Given the description of an element on the screen output the (x, y) to click on. 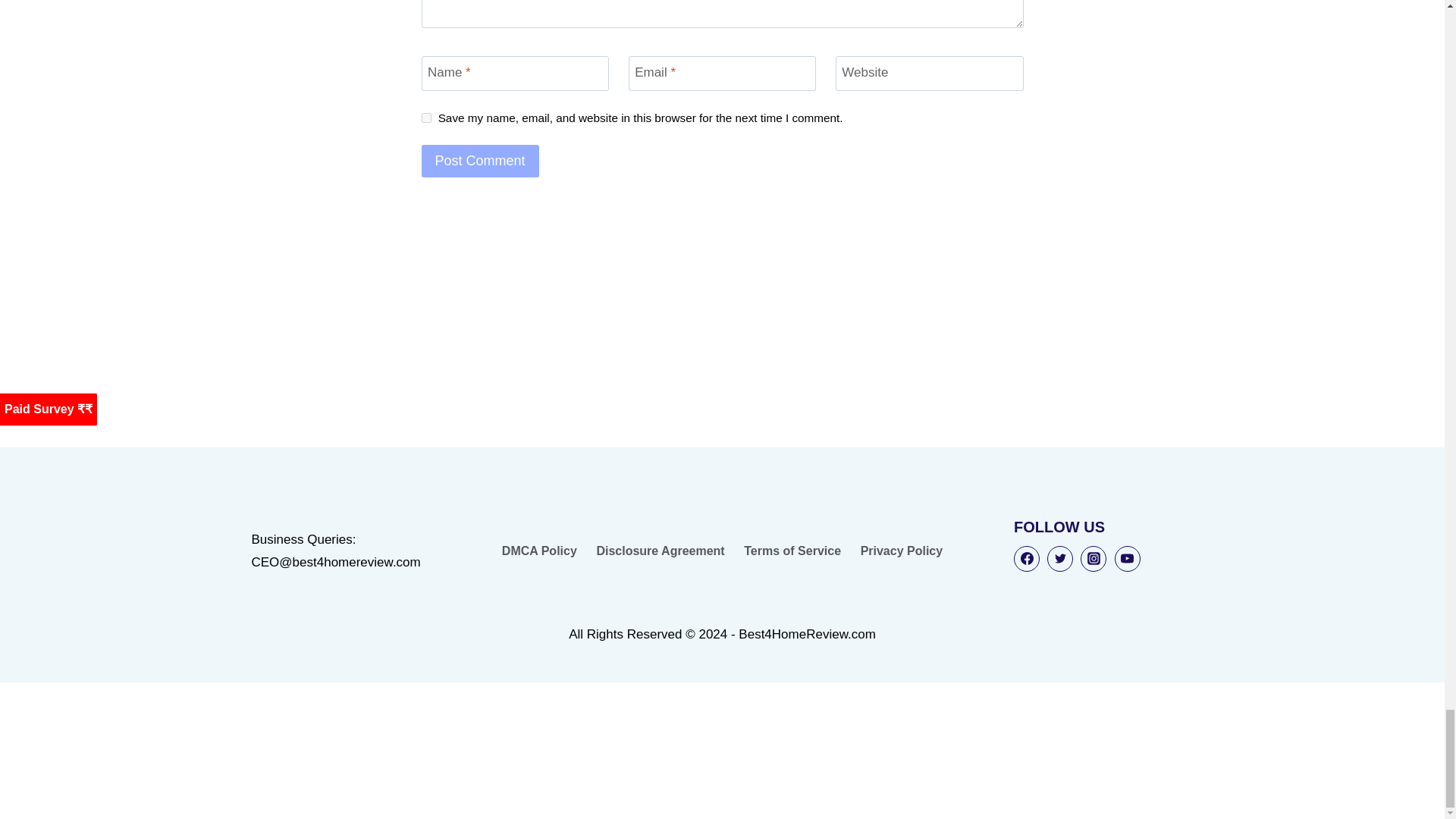
Terms of Service (791, 551)
Post Comment (480, 160)
Disclosure Agreement (660, 551)
Post Comment (480, 160)
Privacy Policy (901, 551)
DMCA Policy (539, 551)
yes (426, 117)
